Given the description of an element on the screen output the (x, y) to click on. 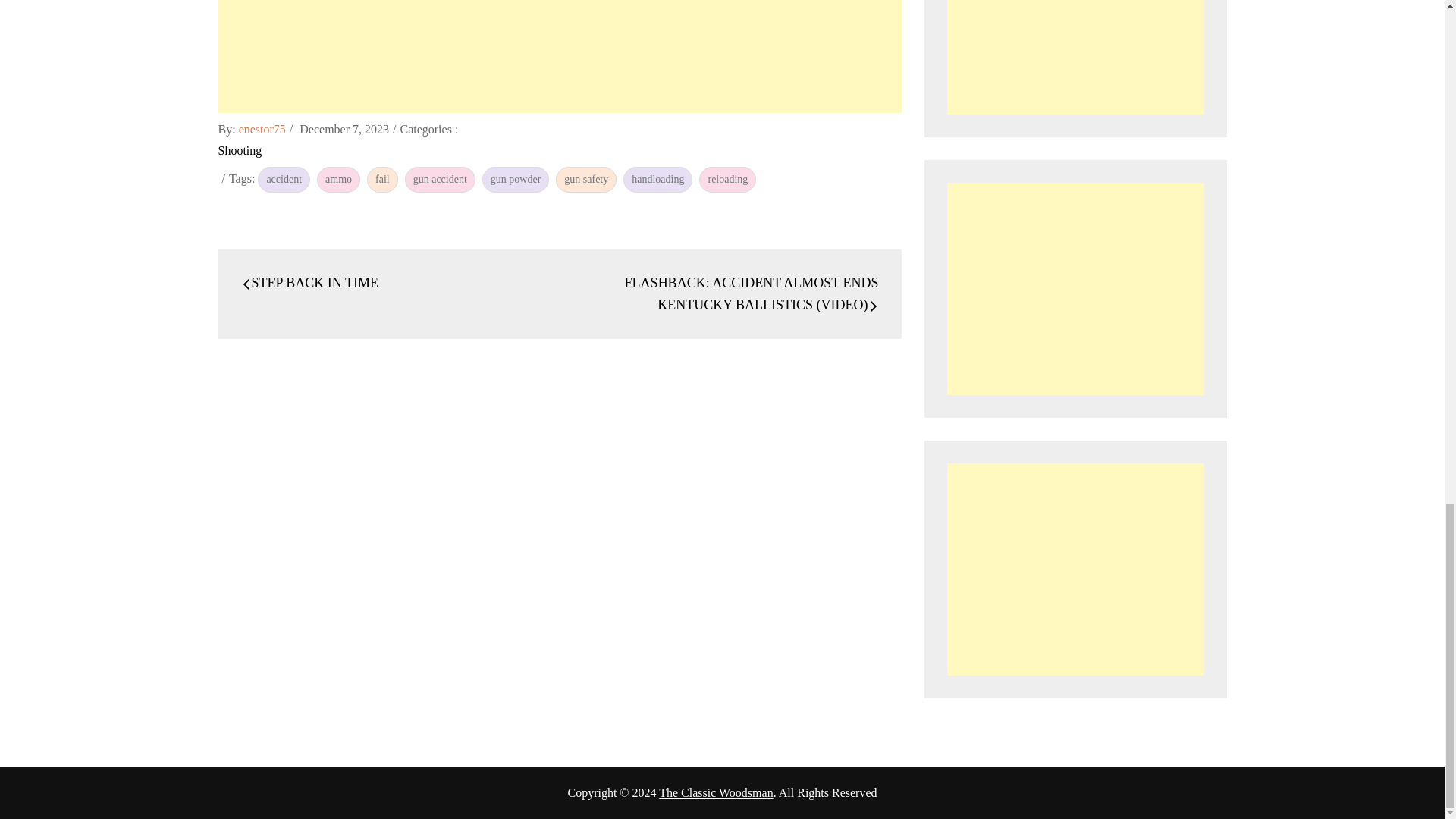
gun accident (440, 179)
reloading (726, 179)
enestor75 (261, 128)
gun powder (515, 179)
Shooting (240, 150)
fail (381, 179)
The Classic Woodsman (716, 792)
December 7, 2023 (343, 128)
accident (283, 179)
gun safety (585, 179)
